Given the description of an element on the screen output the (x, y) to click on. 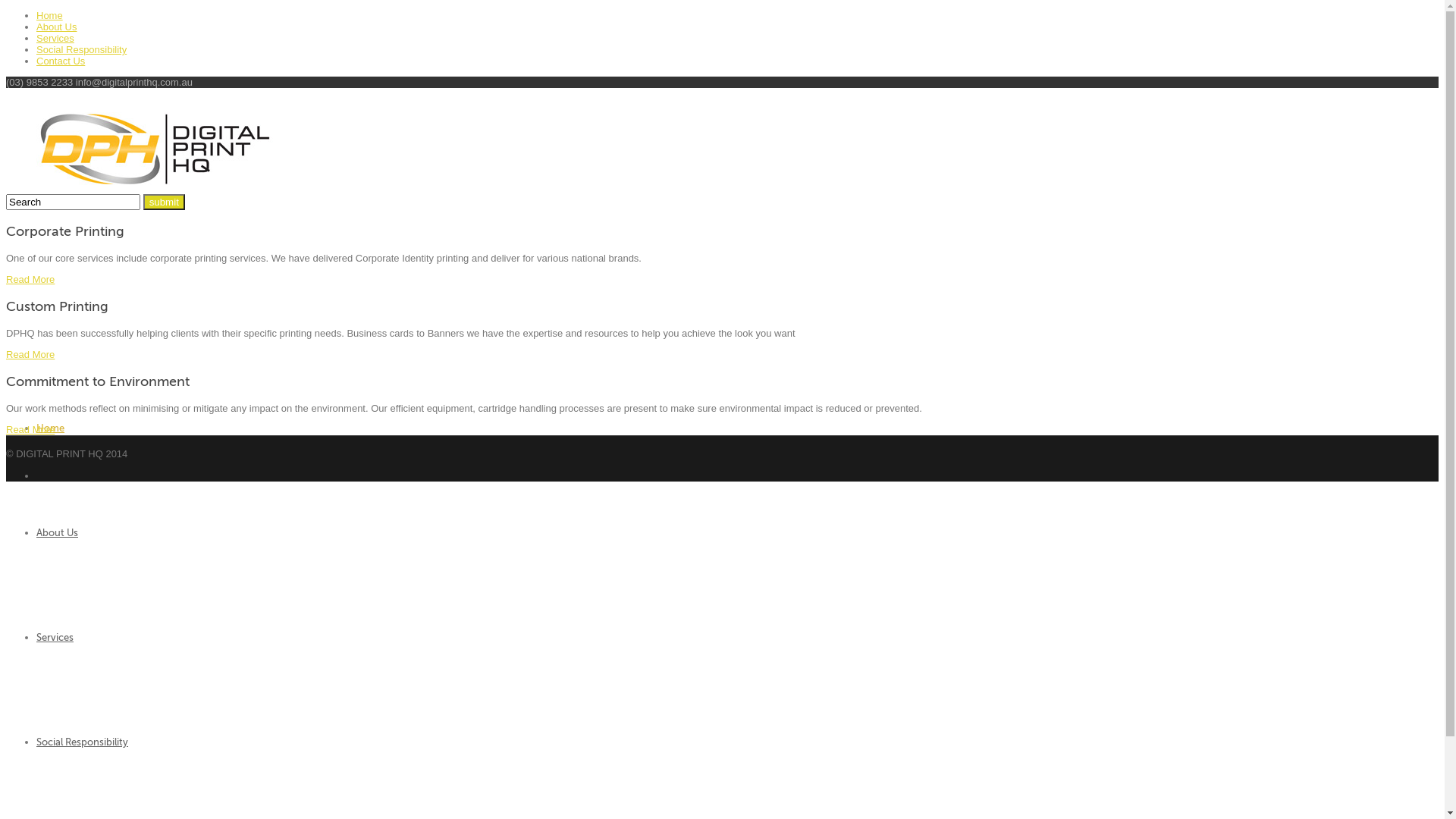
Home Element type: text (49, 15)
Social Responsibility Element type: text (82, 741)
About Us Element type: text (57, 532)
Read More Element type: text (30, 429)
About Us Element type: text (56, 26)
Services Element type: text (54, 637)
Home Element type: text (50, 427)
Social Responsibility Element type: text (81, 49)
Read More Element type: text (30, 279)
Read More Element type: text (30, 354)
submit Element type: text (164, 202)
Services Element type: text (55, 37)
Contact Us Element type: text (60, 60)
